Given the description of an element on the screen output the (x, y) to click on. 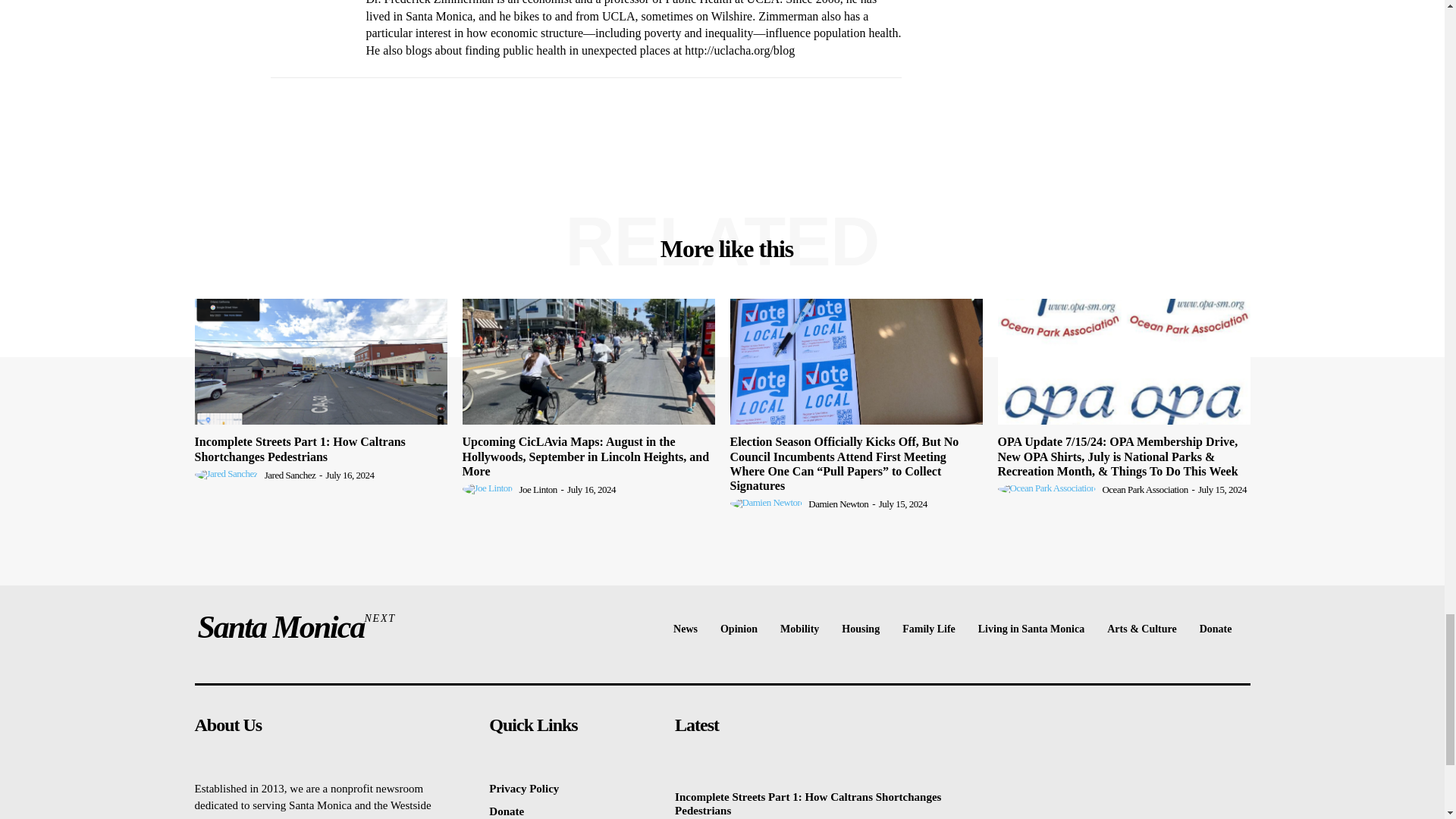
Frederick Zimmerman (305, 31)
